Given the description of an element on the screen output the (x, y) to click on. 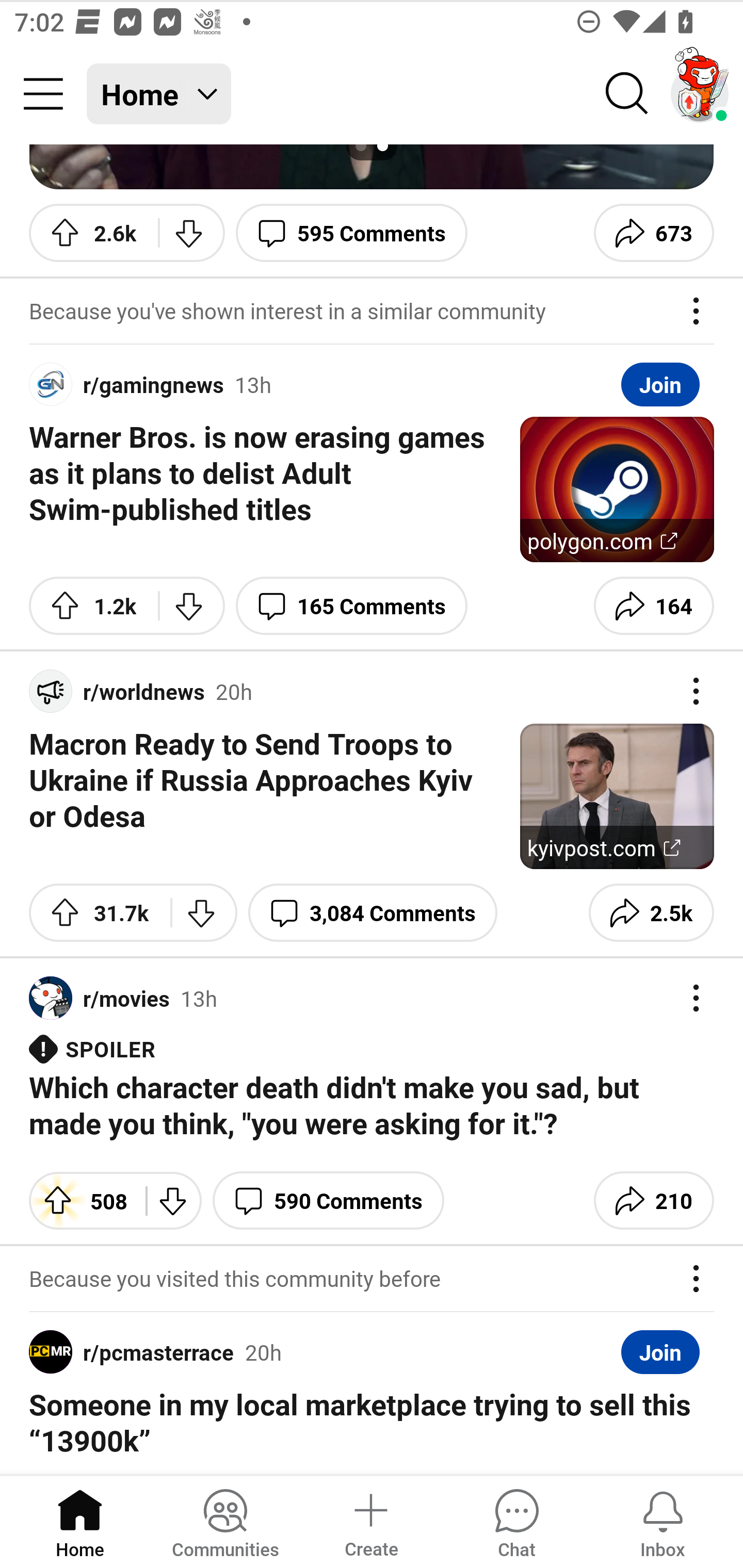
Community menu (43, 93)
Home Home feed (158, 93)
Search (626, 93)
TestAppium002 account (699, 93)
Home (80, 1520)
Communities (225, 1520)
Create a post Create (370, 1520)
Chat (516, 1520)
Inbox (662, 1520)
